Given the description of an element on the screen output the (x, y) to click on. 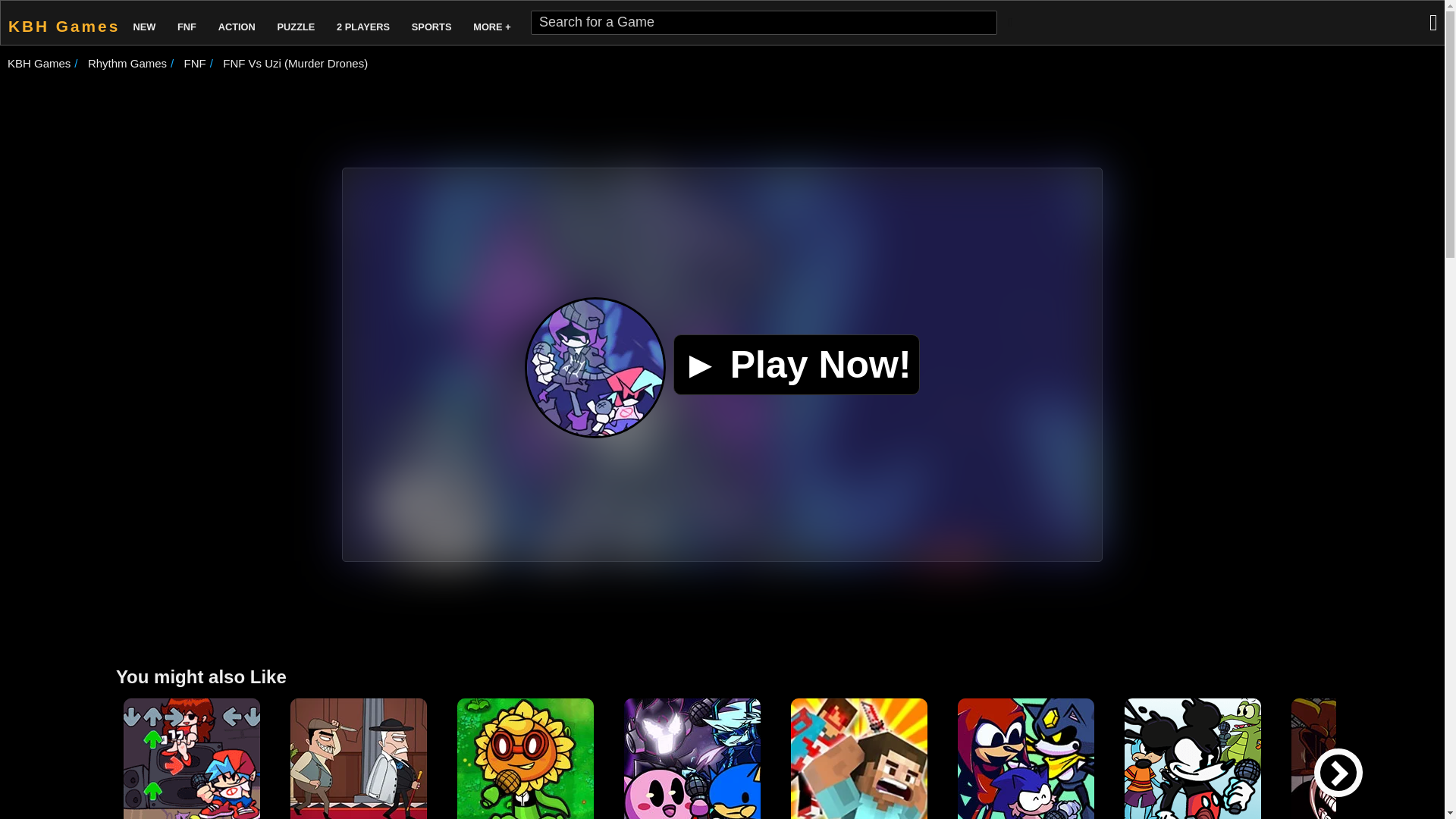
FNF (186, 22)
SPORTS (432, 22)
FNF Left Unlocked, but Everyone Sings It (1359, 758)
Advertisement (722, 611)
FNF (195, 62)
NEW (143, 22)
KBH Games (61, 22)
ACTION (237, 22)
Friday Night Funkin' Disney Club (1192, 758)
FNF VS Plant's Night Funkin Replanted (525, 758)
FNF Vs Void Polarity But Everyone Sings It (692, 758)
Scary Murder at the Craft School 3D (858, 758)
2 PLAYERS (363, 22)
PUZZLE (295, 22)
Rhythm Games (127, 62)
